Given the description of an element on the screen output the (x, y) to click on. 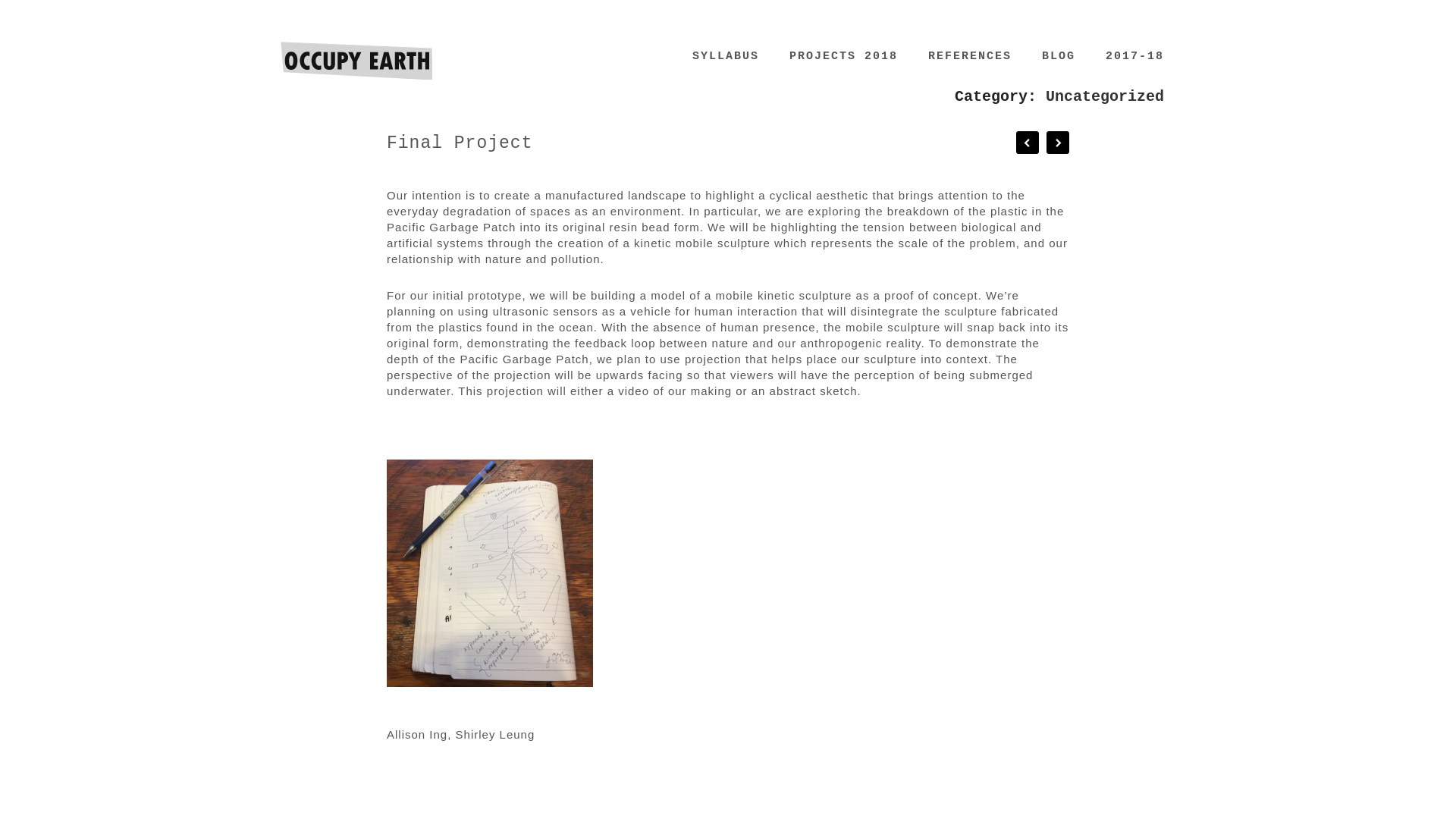
BLOG (1058, 56)
2017-18 (1134, 56)
REFERENCES (970, 56)
PROJECTS 2018 (842, 56)
SYLLABUS (725, 56)
Uncategorized (1104, 96)
